Given the description of an element on the screen output the (x, y) to click on. 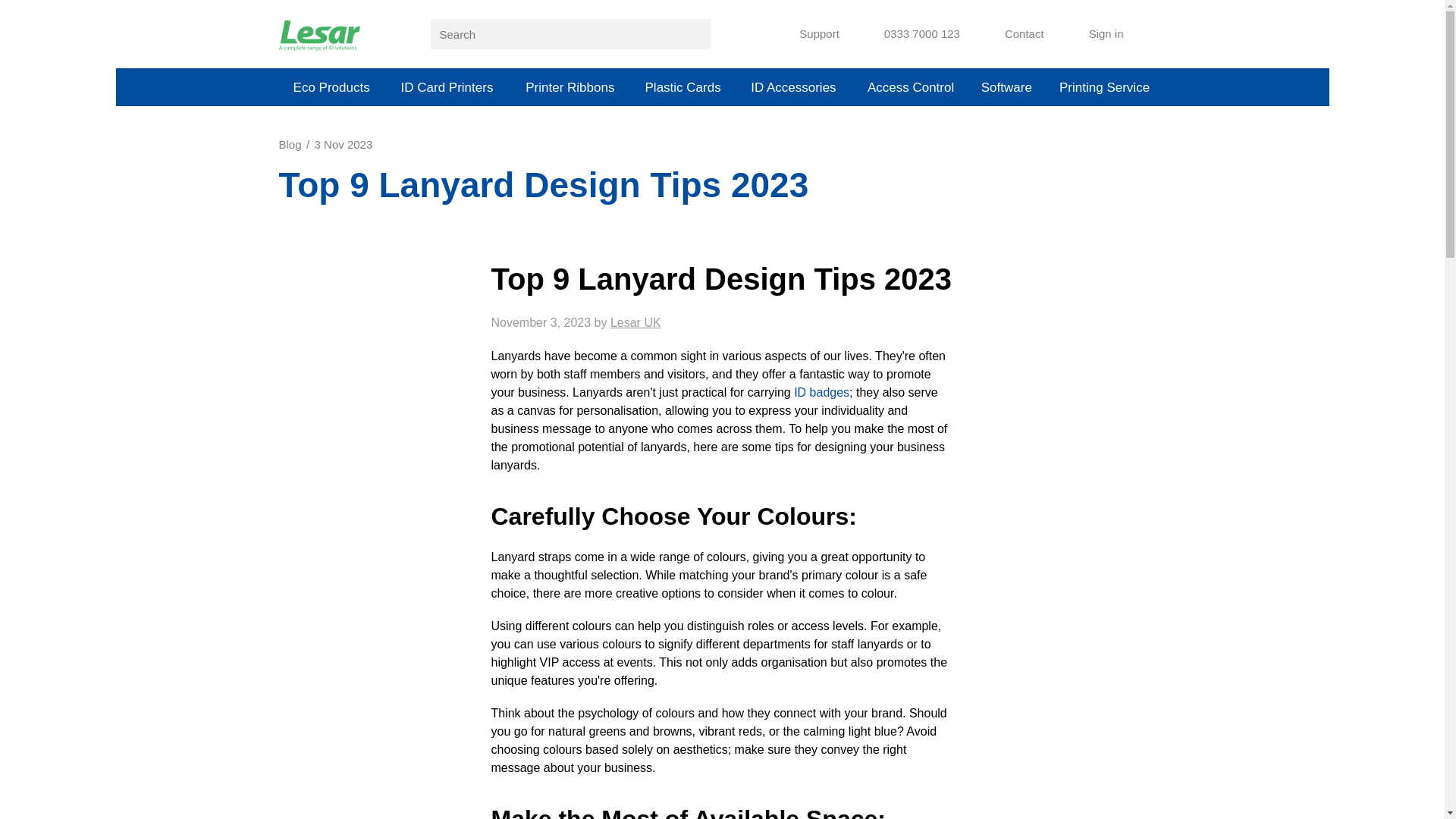
Sign in (1095, 34)
Printer Ribbons (569, 86)
Contact (1013, 34)
ID Card Printers (446, 86)
Support (808, 34)
Eco Products (331, 86)
